Given the description of an element on the screen output the (x, y) to click on. 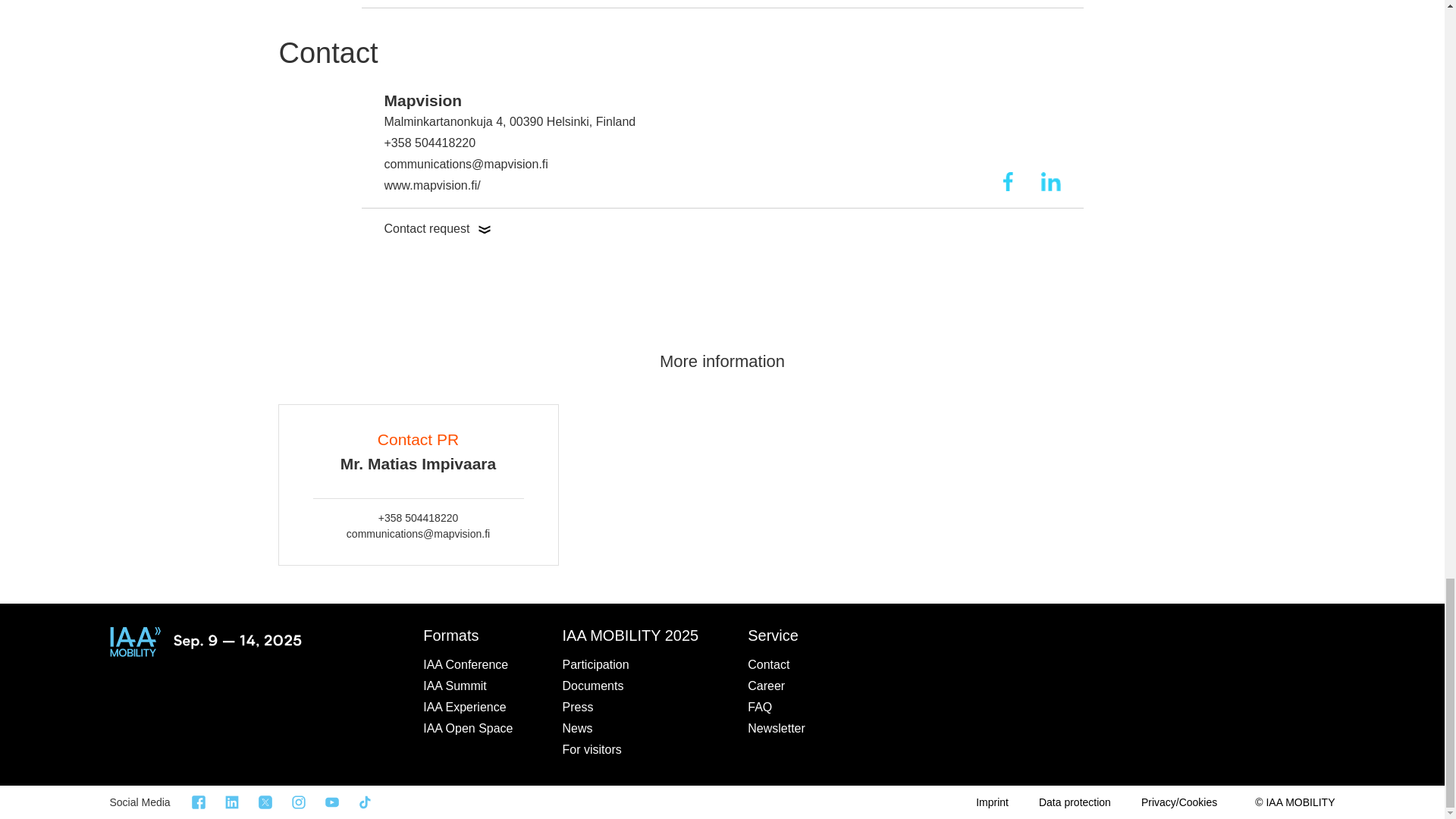
More information (722, 327)
